Given the description of an element on the screen output the (x, y) to click on. 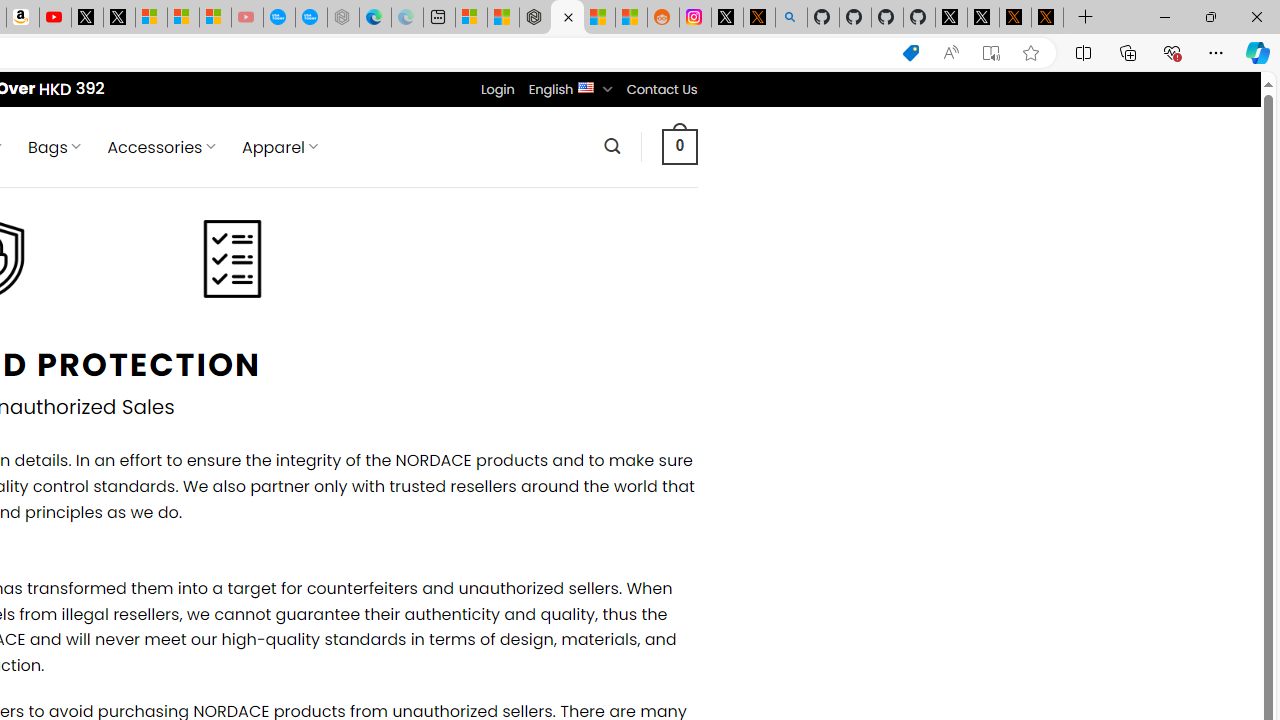
help.x.com | 524: A timeout occurred (758, 17)
 0  (679, 146)
Nordace - Best Sellers (535, 17)
  0   (679, 146)
Contact Us (661, 89)
Opinion: Op-Ed and Commentary - USA TODAY (279, 17)
